Given the description of an element on the screen output the (x, y) to click on. 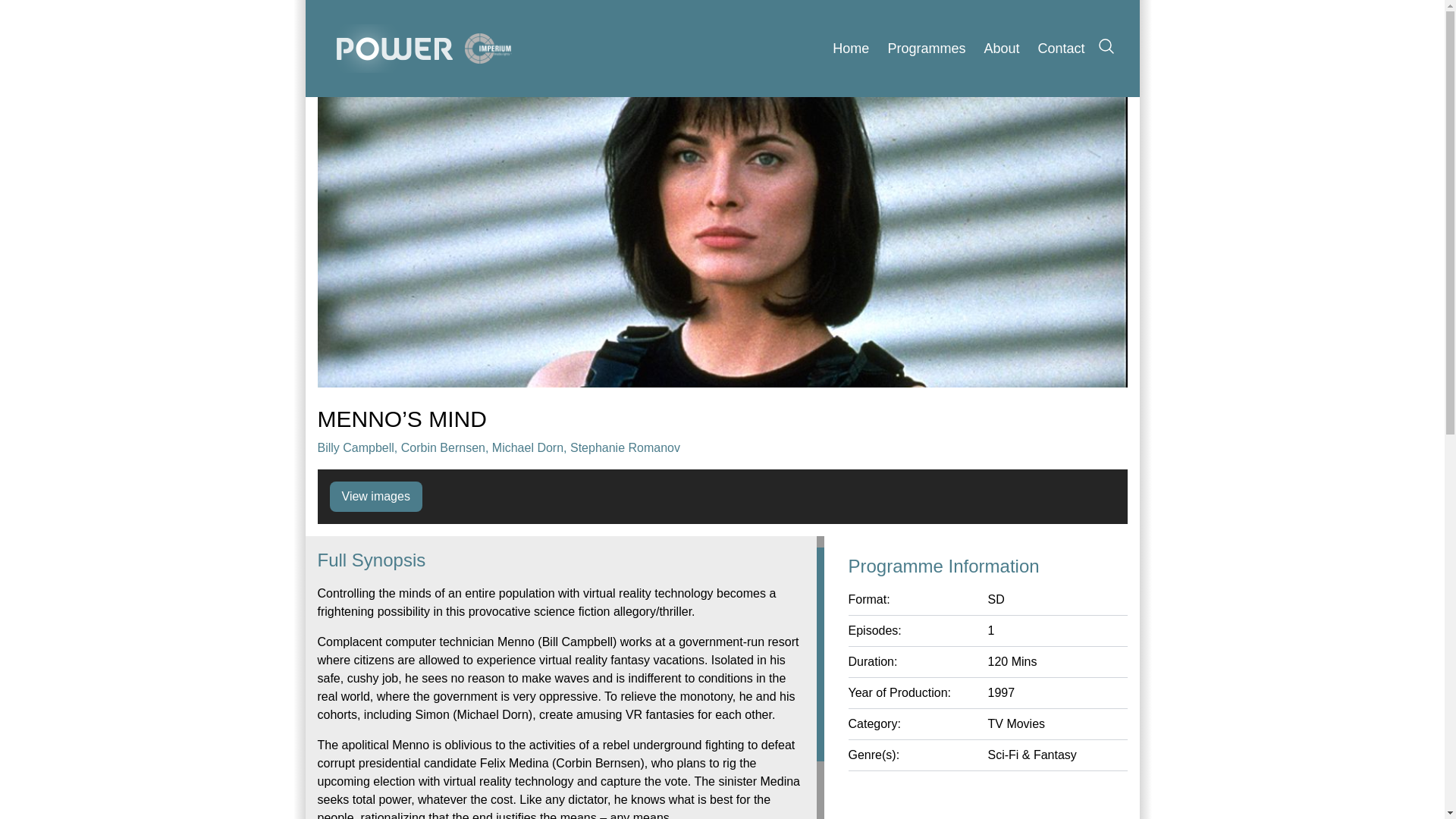
Programme Information (986, 565)
Contact (1060, 48)
About (1001, 48)
Full Synopsis (559, 557)
Home (850, 48)
View images (375, 496)
Programmes (925, 48)
